Given the description of an element on the screen output the (x, y) to click on. 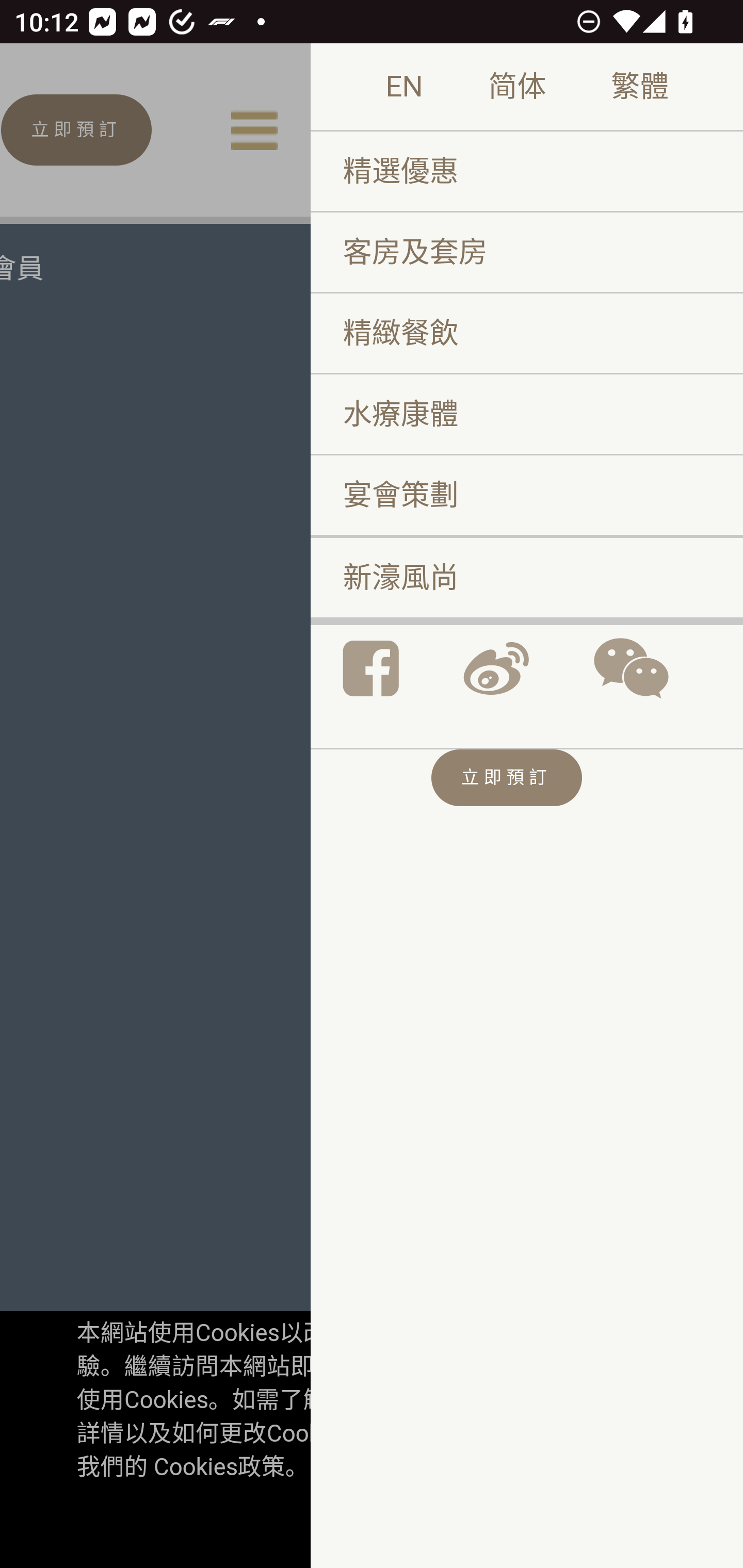
精選優惠 (526, 172)
客房及套房 (526, 253)
精緻餐飲 (526, 334)
水療康體 (526, 413)
宴會策劃 (526, 495)
新濠風尚 (526, 578)
 (370, 668)
 (495, 668)
 (630, 668)
立即預訂 (506, 779)
